Given the description of an element on the screen output the (x, y) to click on. 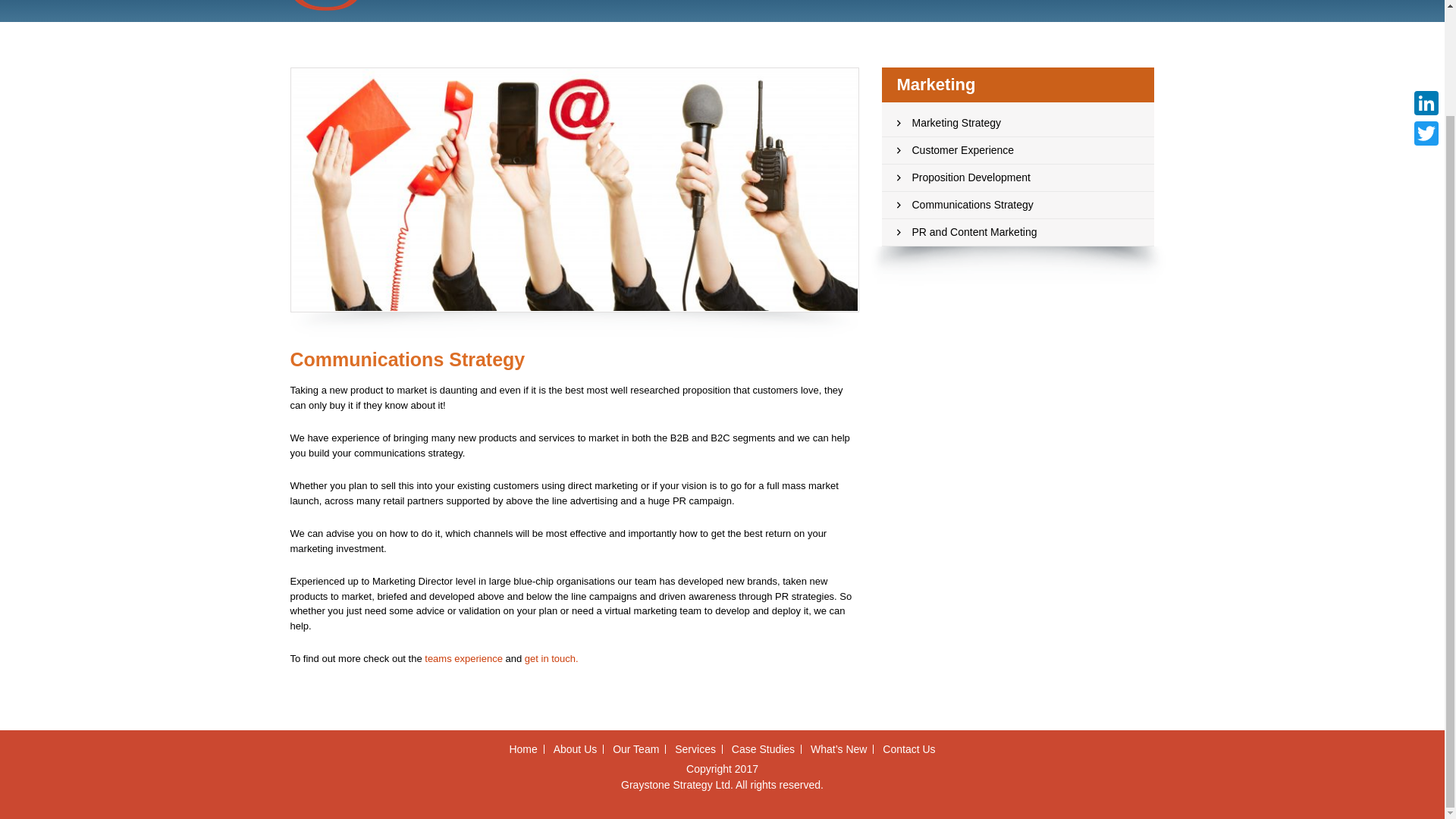
teams experience (463, 658)
Twitter (1425, 12)
get in touch. (551, 658)
